Given the description of an element on the screen output the (x, y) to click on. 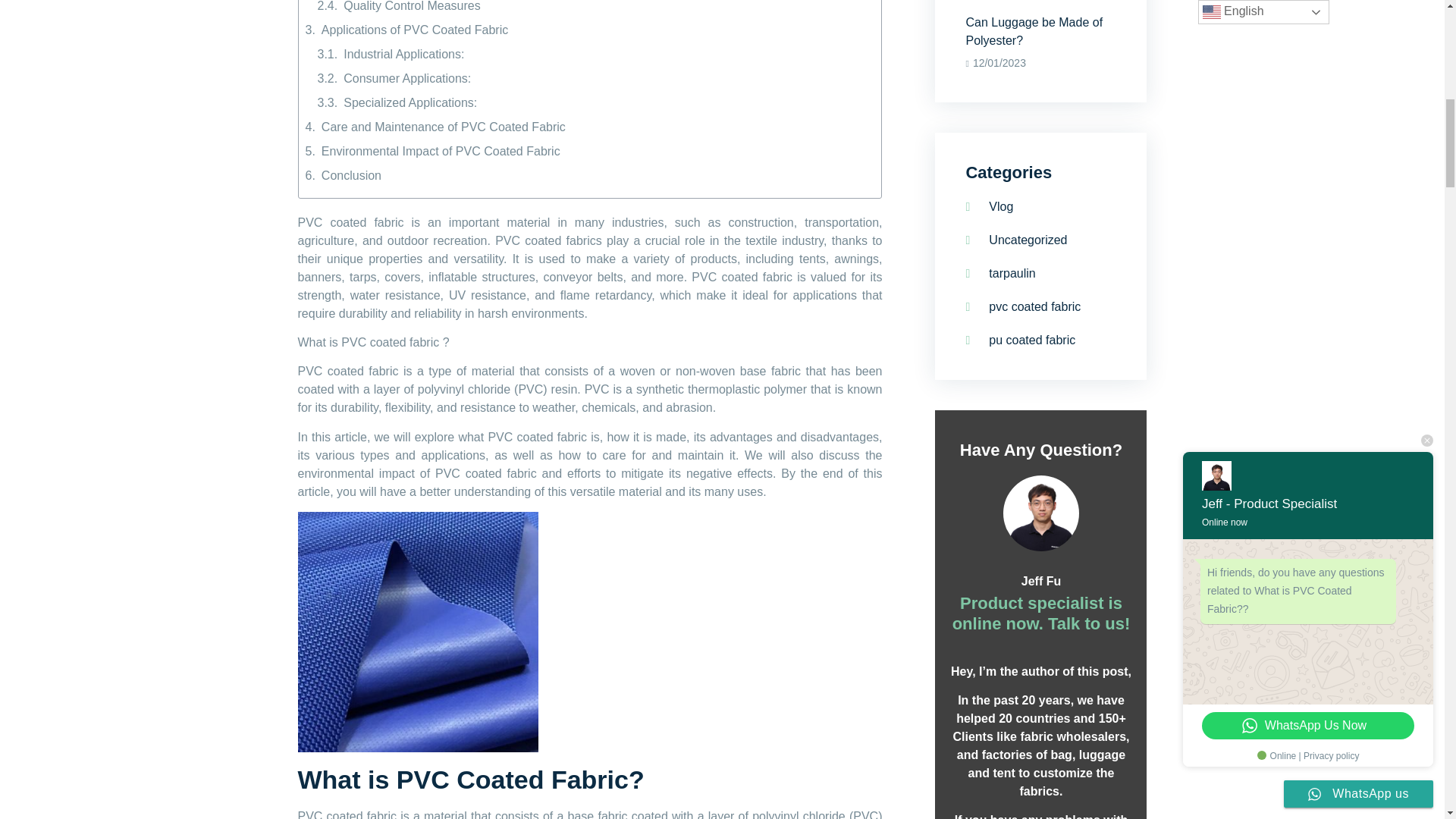
Have Any Question? (1040, 450)
Categories (1040, 561)
